Given the description of an element on the screen output the (x, y) to click on. 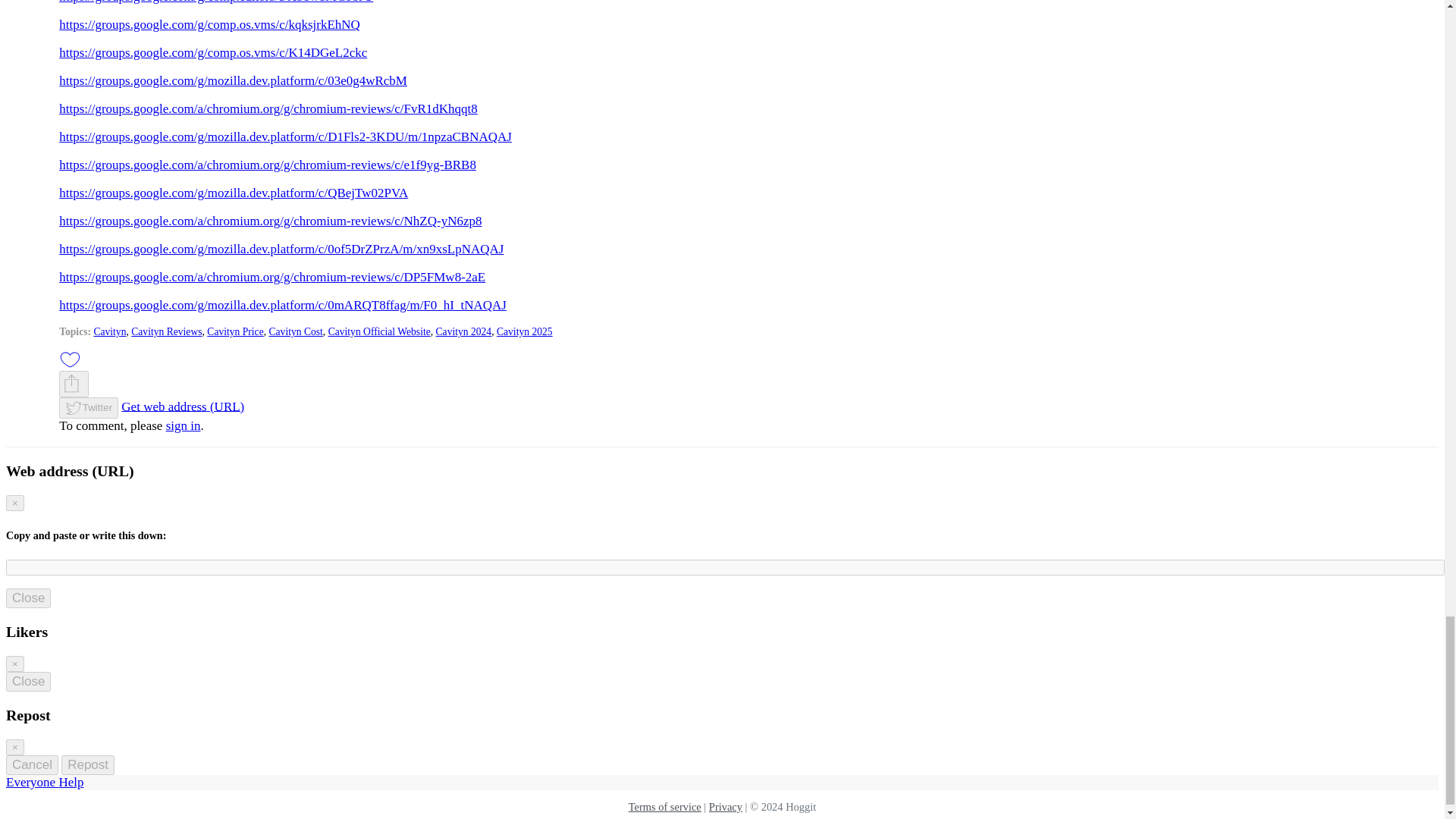
Share (71, 383)
Like (70, 359)
